Given the description of an element on the screen output the (x, y) to click on. 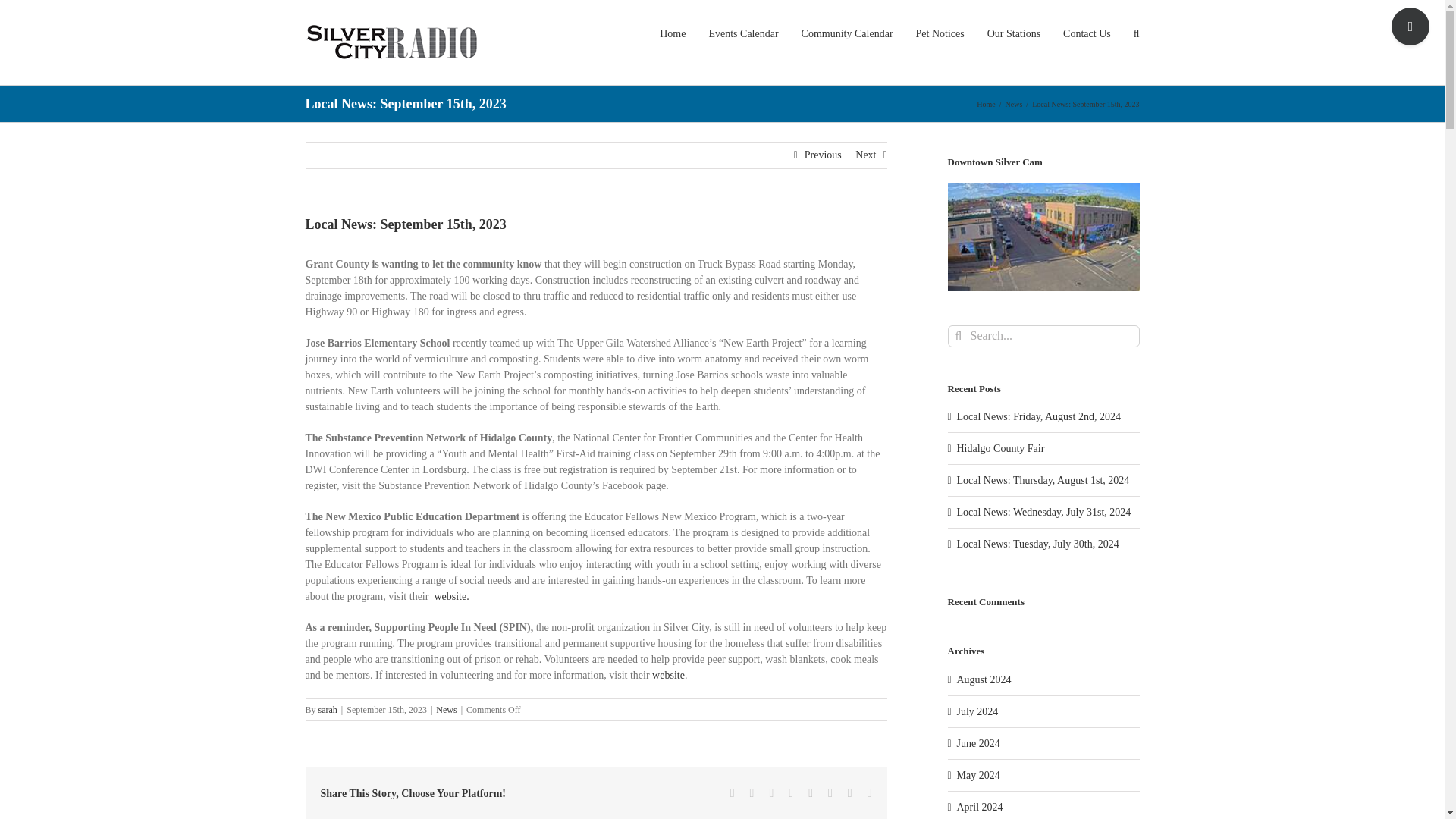
Twitter (751, 793)
Search (1137, 32)
Vk (849, 793)
Local News: Thursday, August 1st, 2024 (1042, 480)
website. (450, 595)
website (668, 674)
Next (866, 155)
Facebook (732, 793)
News (1014, 103)
Community Calendar (847, 32)
Tumblr (810, 793)
Events Calendar (742, 32)
Pet Notices (939, 32)
Reddit (770, 793)
Vk (849, 793)
